Given the description of an element on the screen output the (x, y) to click on. 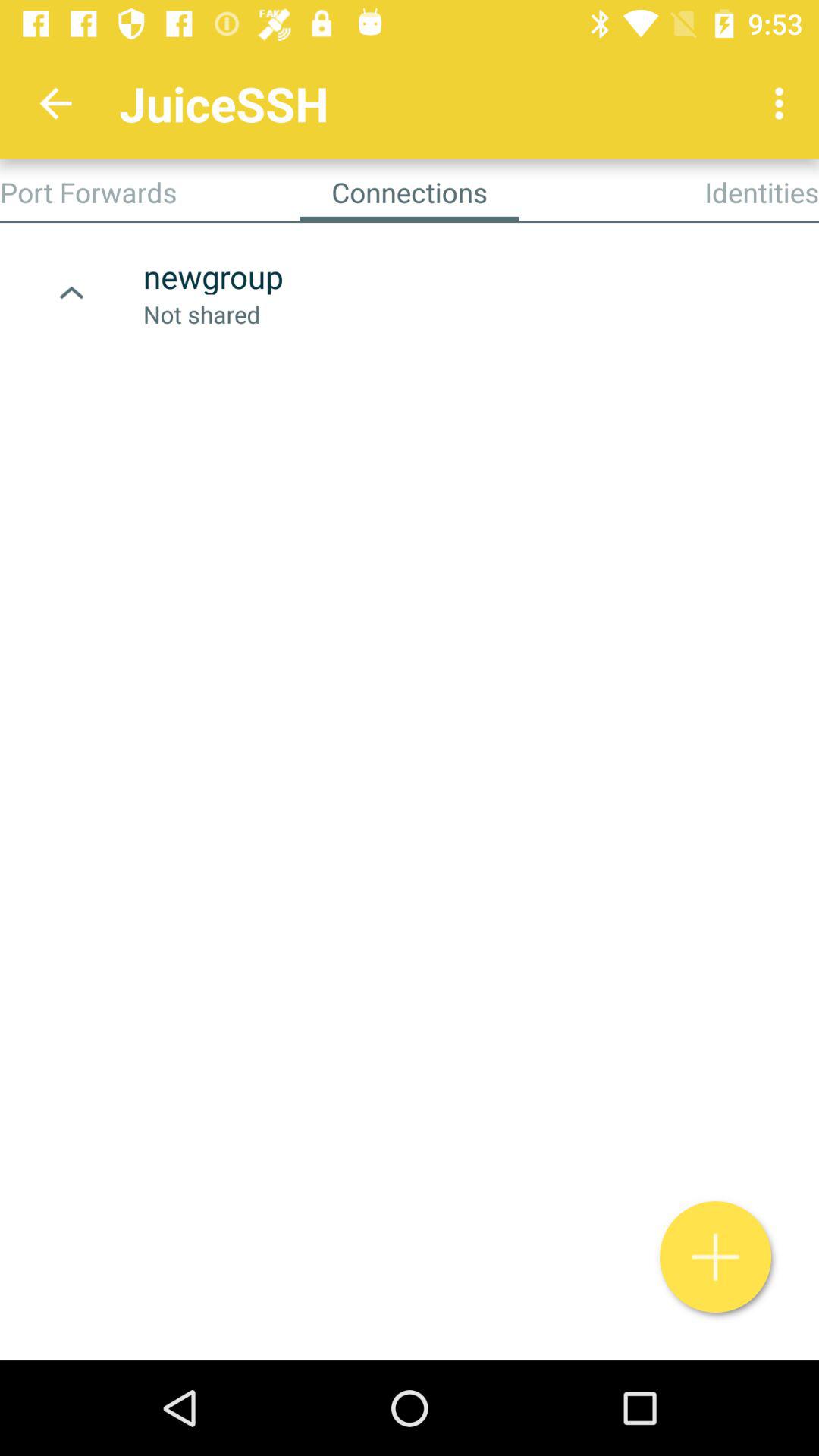
open the icon next to juicessh icon (783, 103)
